Given the description of an element on the screen output the (x, y) to click on. 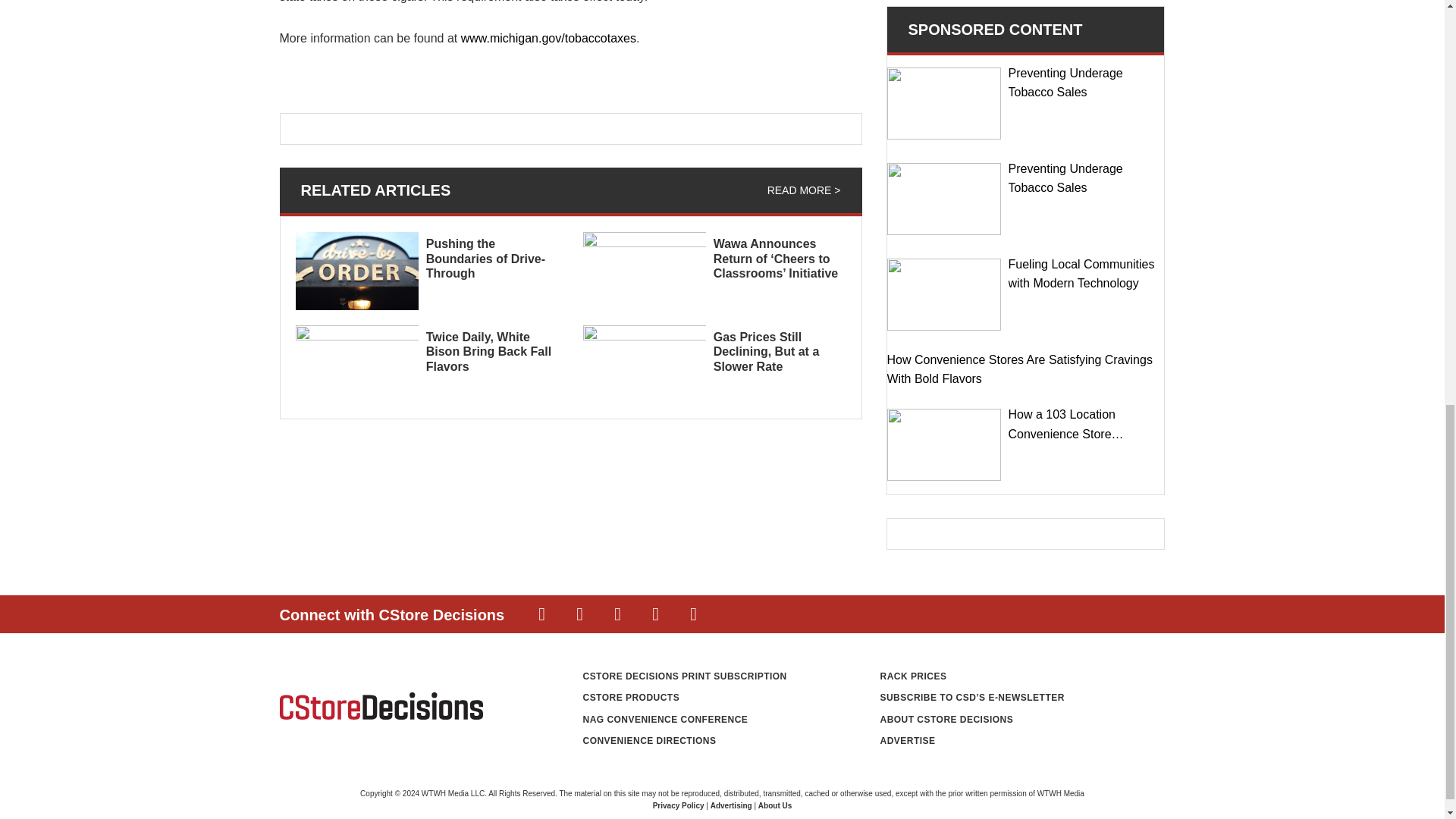
Preventing Underage Tobacco Sales (943, 103)
Preventing Underage Tobacco Sales (943, 198)
Fueling Local Communities with Modern Technology (943, 294)
How a 103 Location Convenience Store Enhanced Operations (943, 444)
